Given the description of an element on the screen output the (x, y) to click on. 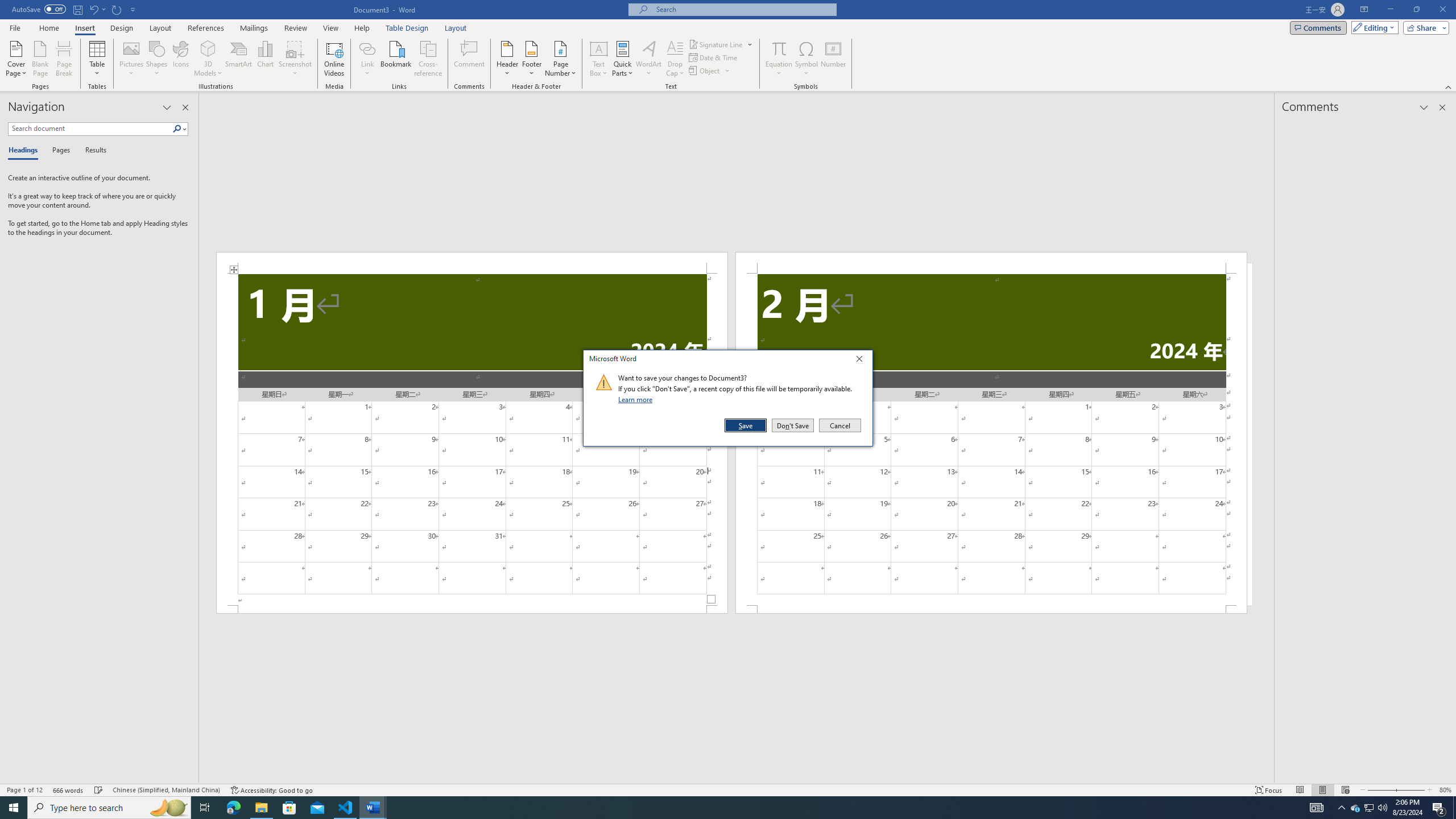
Footer (531, 58)
Don't Save (1368, 807)
Language Chinese (Simplified, Mainland China) (792, 425)
Learn more (165, 790)
Word - 2 running windows (636, 399)
Bookmark... (373, 807)
Link (396, 58)
SmartArt... (367, 58)
Cancel (238, 58)
Date & Time... (839, 425)
